Given the description of an element on the screen output the (x, y) to click on. 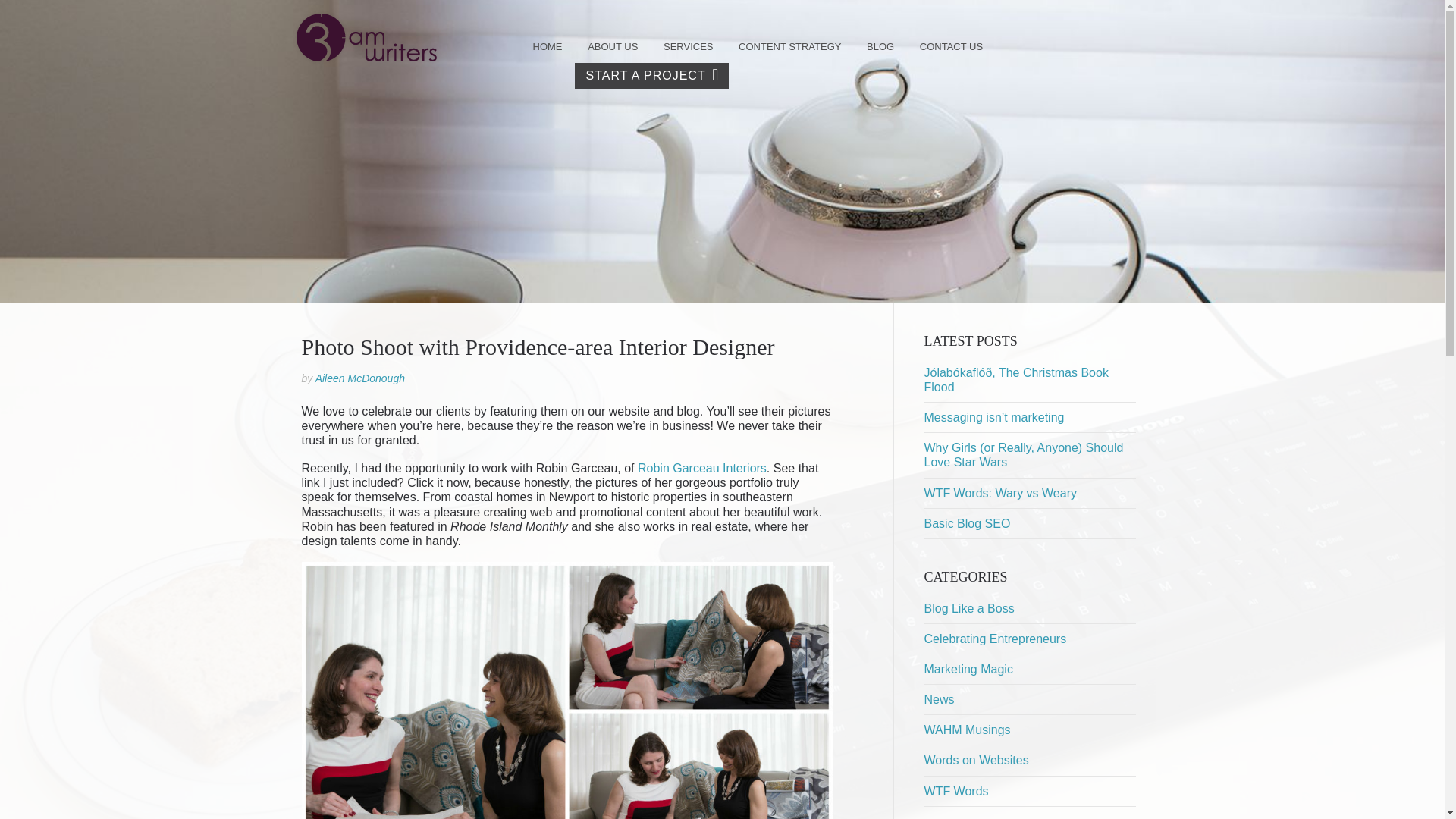
Words on Websites Element type: text (975, 759)
BLOG Element type: text (880, 46)
Robin Garceau Interiors Element type: text (701, 467)
WTF Words: Wary vs Weary Element type: text (999, 492)
Celebrating Entrepreneurs Element type: text (994, 638)
SERVICES Element type: text (688, 46)
HOME Element type: text (547, 46)
ABOUT US Element type: text (612, 46)
Basic Blog SEO Element type: text (966, 523)
News Element type: text (938, 699)
CONTENT STRATEGY Element type: text (789, 46)
WTF Words Element type: text (955, 790)
Blog Like a Boss Element type: text (968, 608)
Why Girls (or Really, Anyone) Should Love Star Wars Element type: text (1023, 454)
Aileen McDonough Element type: text (359, 378)
CONTACT US Element type: text (951, 46)
3am Writers Element type: text (366, 36)
WAHM Musings Element type: text (966, 729)
START A PROJECT Element type: text (651, 75)
Marketing Magic Element type: text (967, 668)
